Given the description of an element on the screen output the (x, y) to click on. 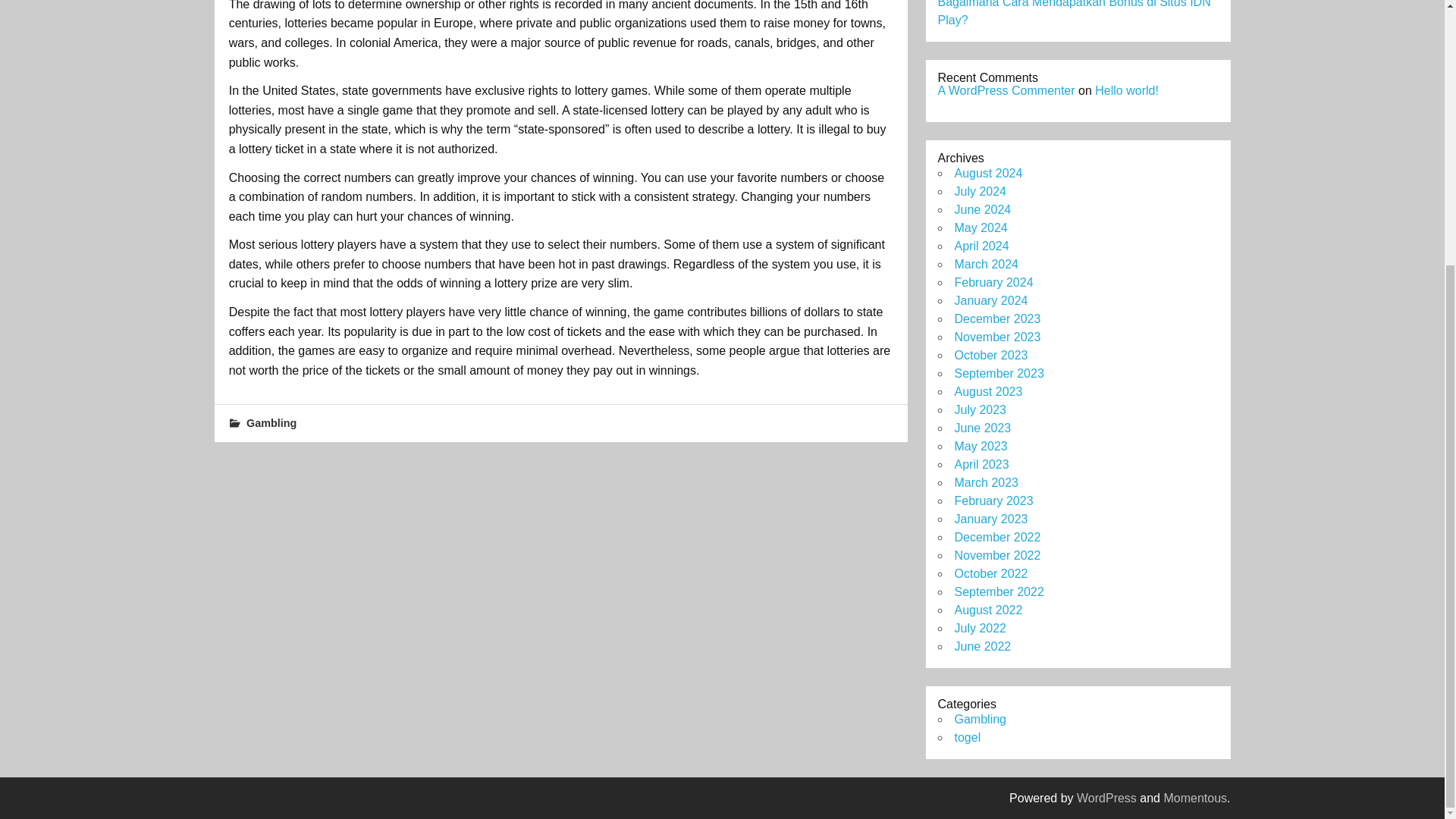
April 2024 (981, 245)
Momentous WordPress Theme (1195, 797)
September 2023 (998, 373)
April 2023 (981, 463)
December 2023 (997, 318)
February 2023 (992, 500)
WordPress (1107, 797)
A WordPress Commenter (1005, 90)
December 2022 (997, 536)
May 2023 (980, 445)
